Given the description of an element on the screen output the (x, y) to click on. 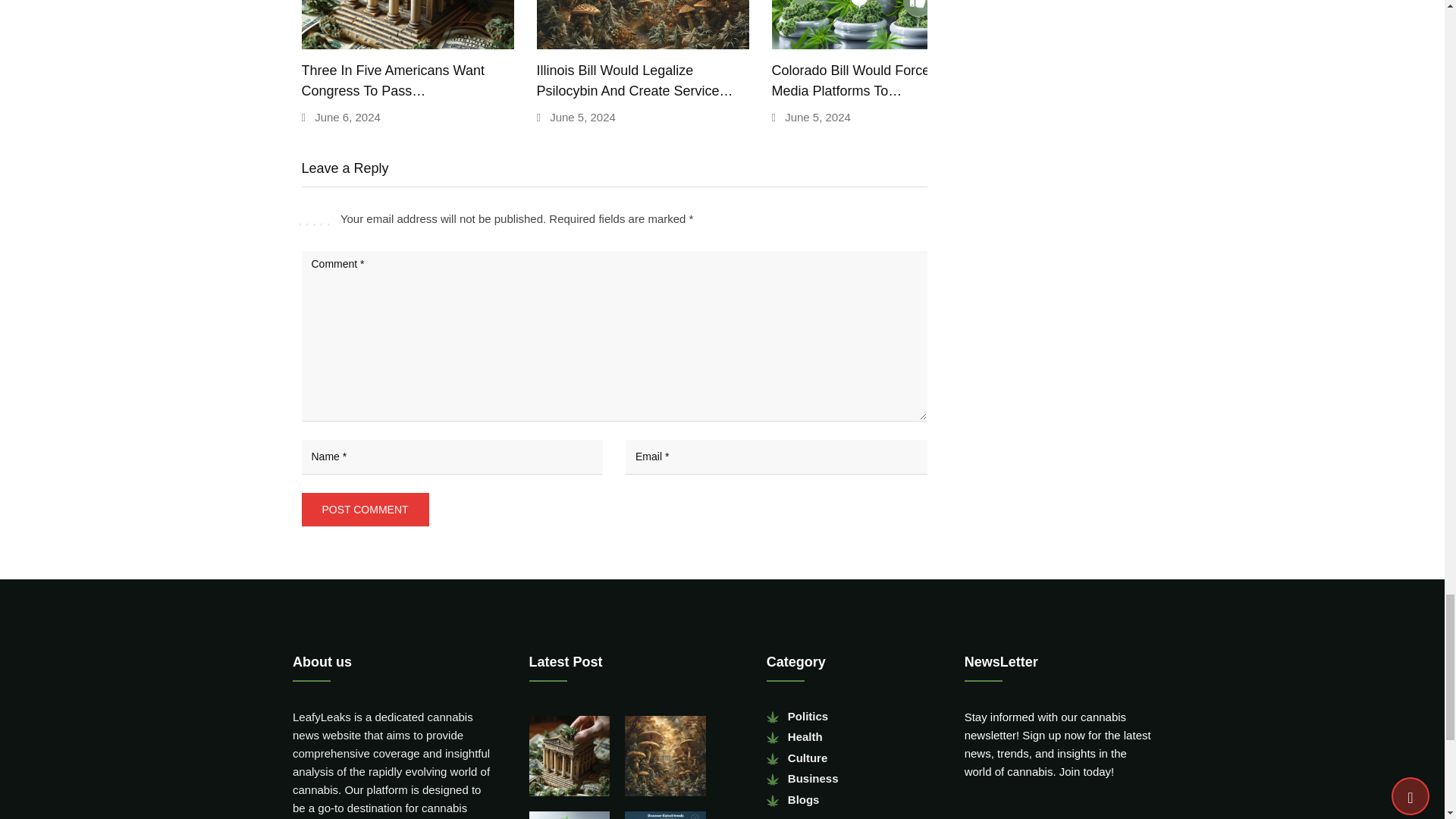
Post Comment (365, 509)
